Given the description of an element on the screen output the (x, y) to click on. 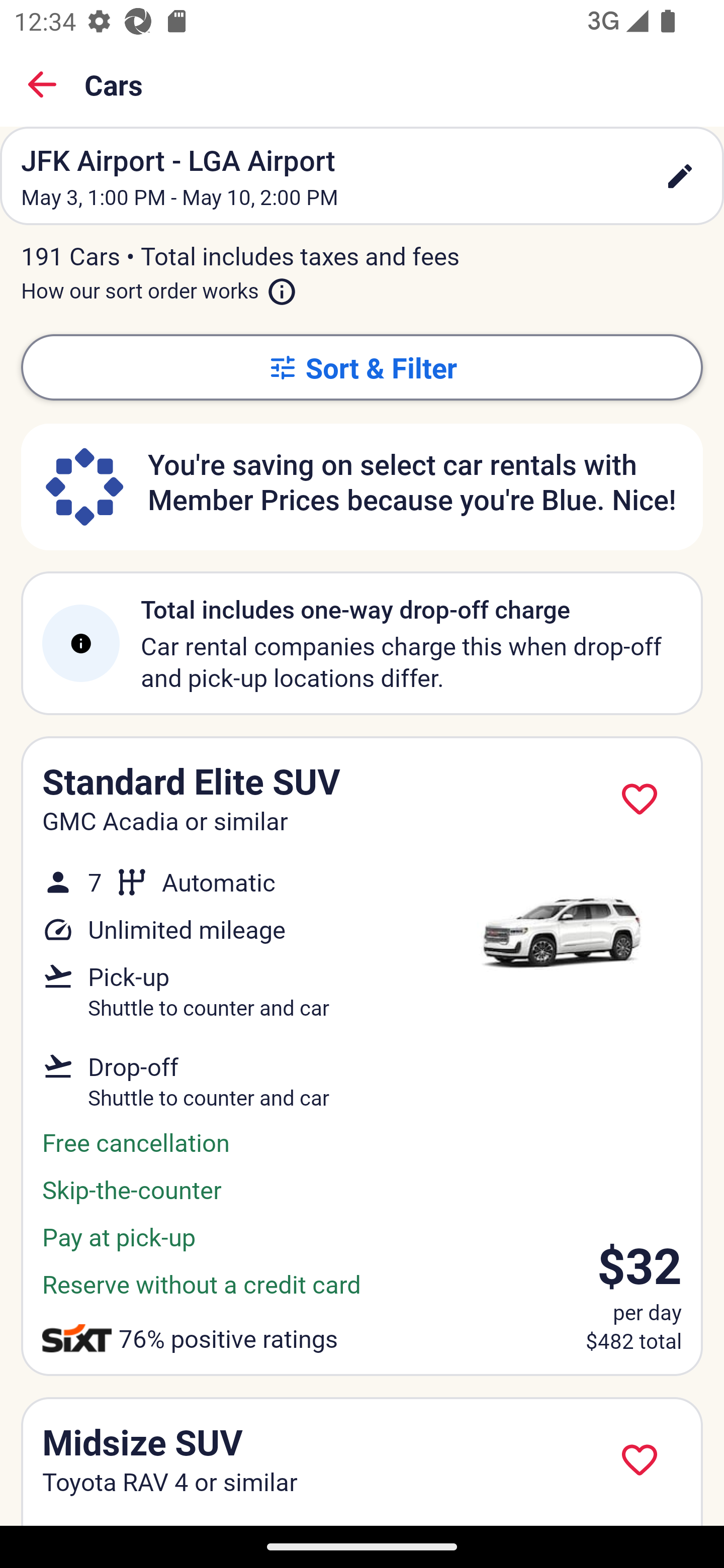
Back (42, 84)
edit (679, 175)
How our sort order works (158, 286)
Sort & Filter (361, 366)
